Given the description of an element on the screen output the (x, y) to click on. 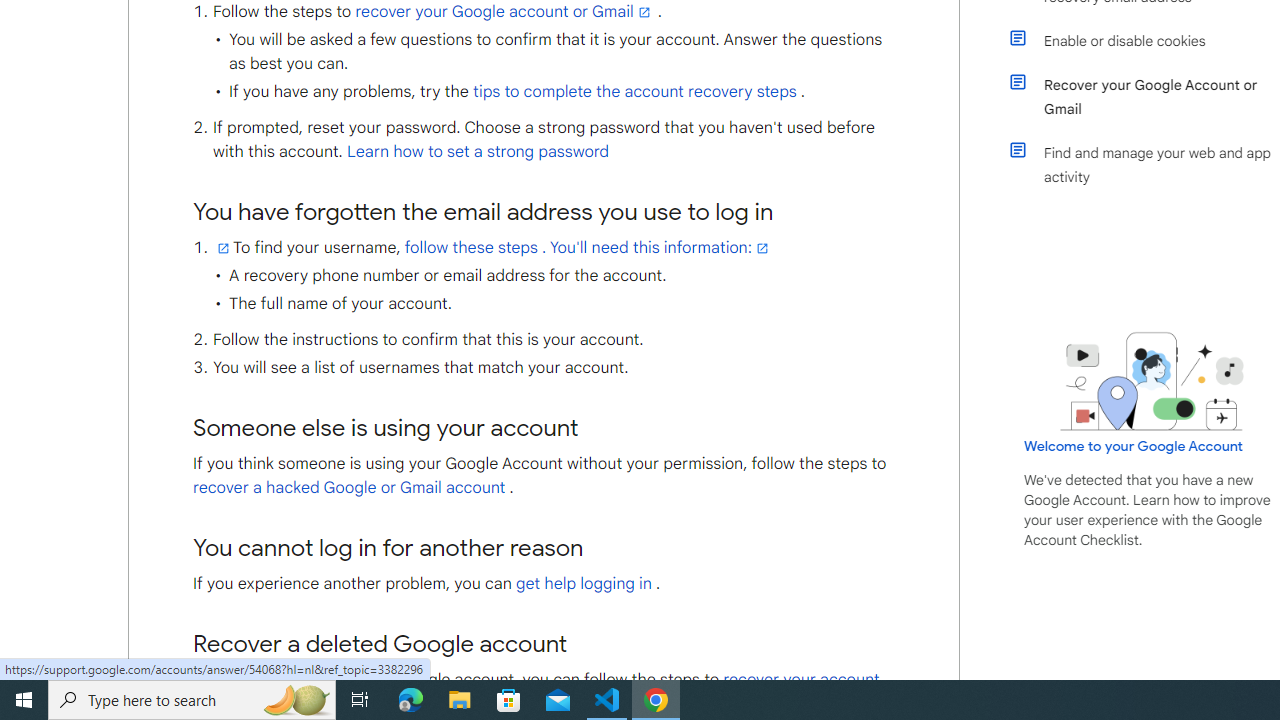
recover your account (801, 679)
recover your Google account or Gmail (504, 12)
Learning Center home page image (1152, 381)
recover a hacked Google or Gmail account (349, 488)
Learn how to set a strong password (477, 151)
tips to complete the account recovery steps (635, 92)
get help logging in (583, 583)
Welcome to your Google Account (1134, 446)
follow these steps . You'll need this information: (587, 247)
